Given the description of an element on the screen output the (x, y) to click on. 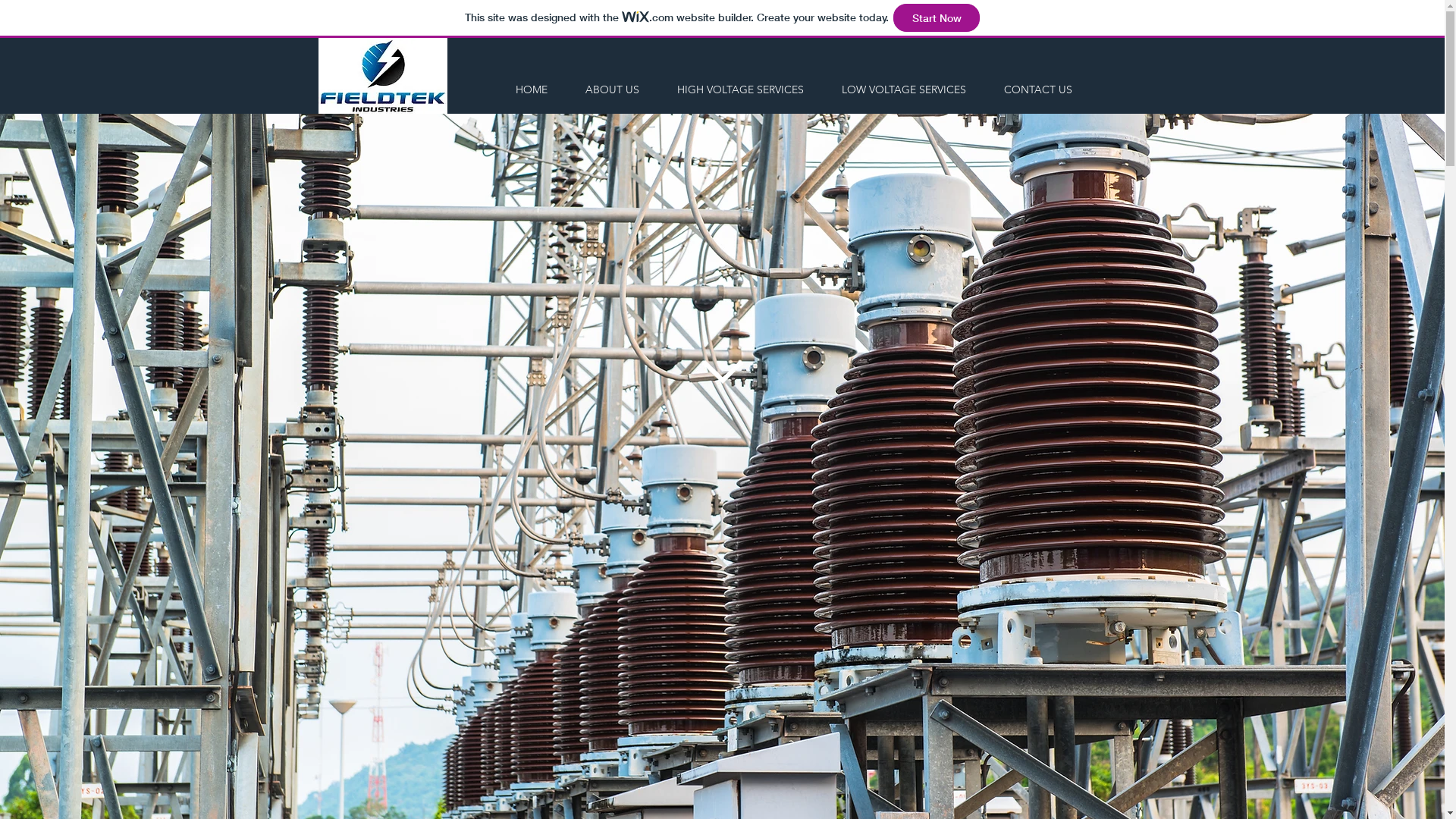
HOME Element type: text (530, 89)
HIGH VOLTAGE SERVICES Element type: text (740, 89)
ABOUT US Element type: text (612, 89)
LOW VOLTAGE SERVICES Element type: text (903, 89)
CONTACT US Element type: text (1038, 89)
